Given the description of an element on the screen output the (x, y) to click on. 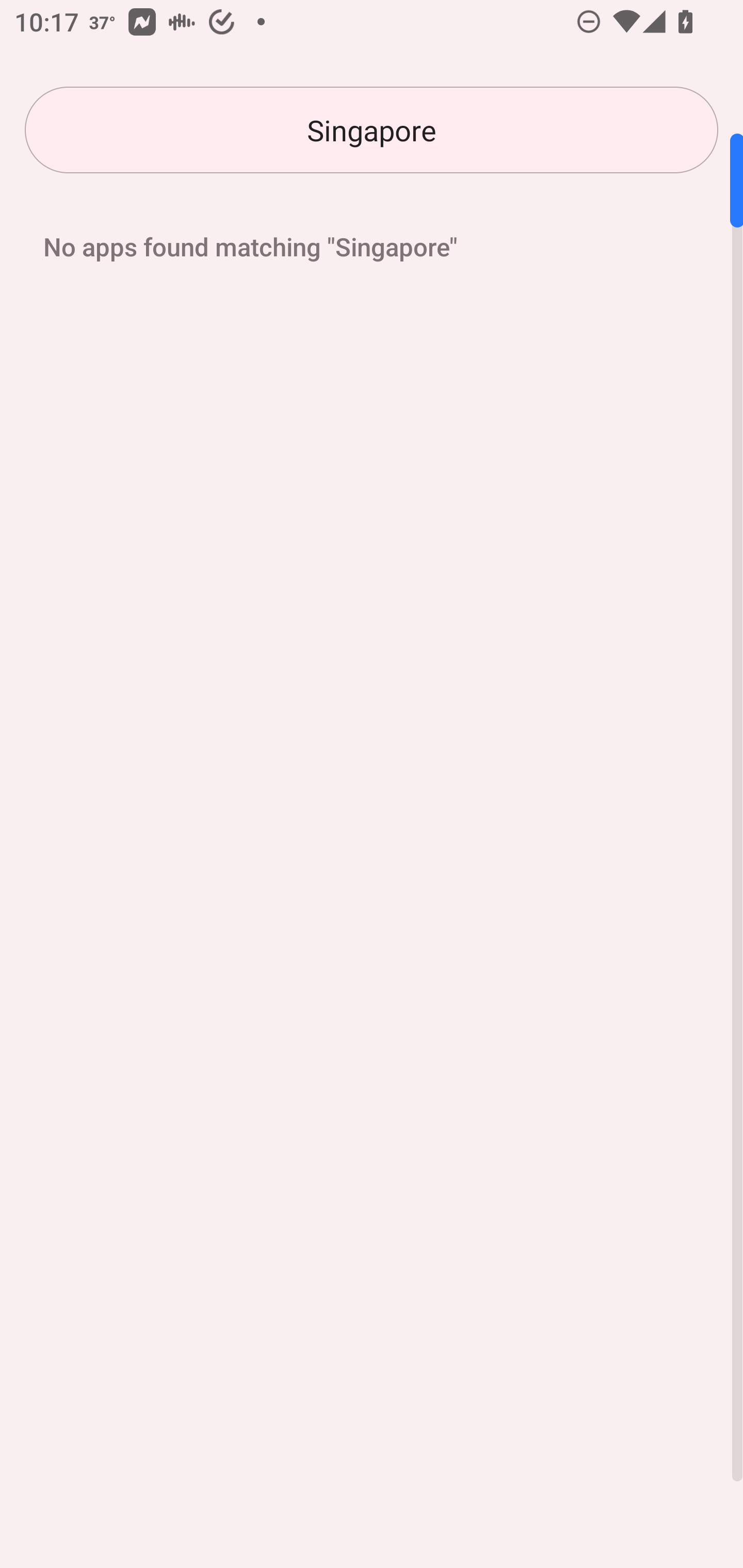
Singapore (371, 130)
